Given the description of an element on the screen output the (x, y) to click on. 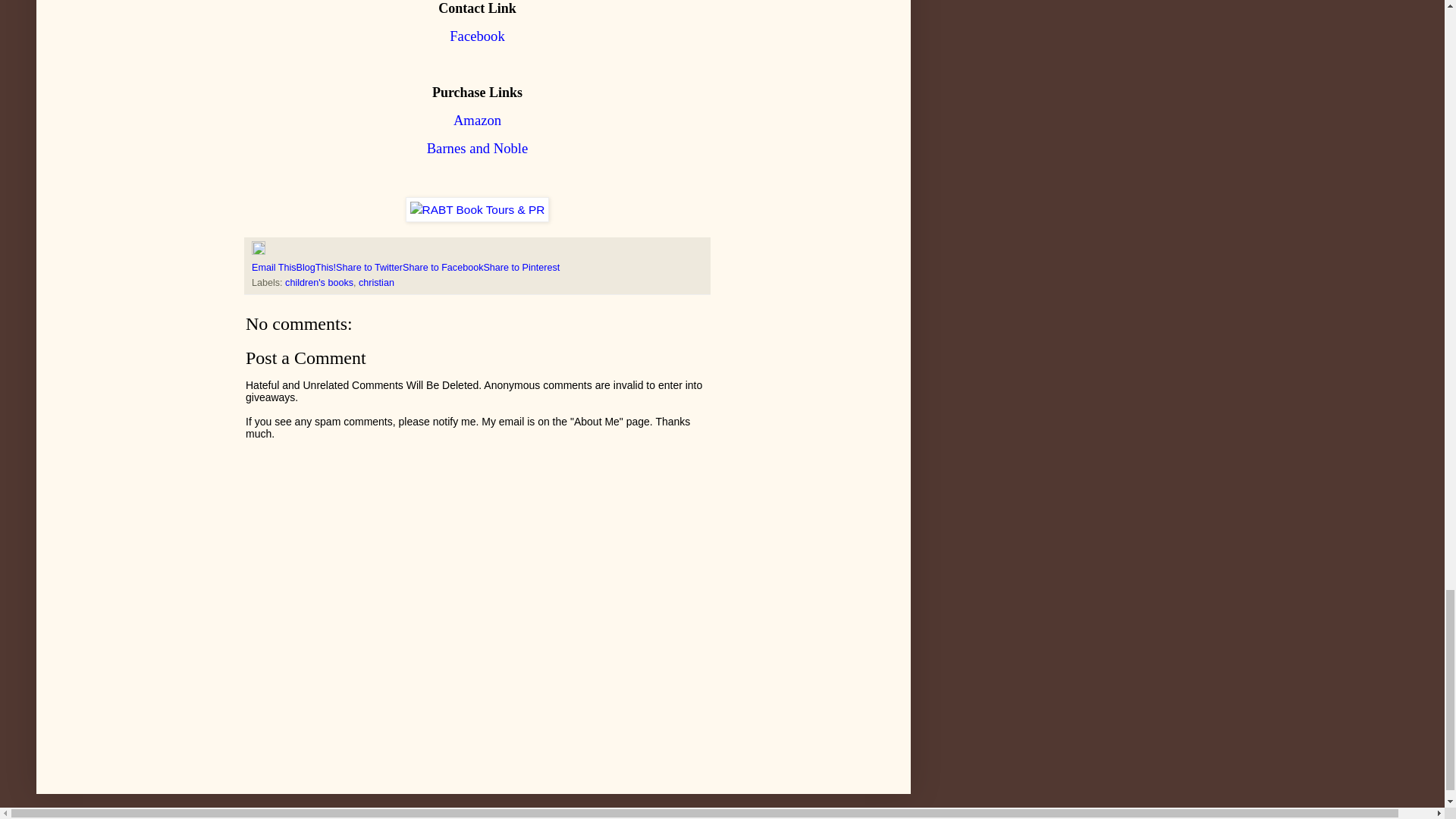
Share to Pinterest (521, 267)
Share to Twitter (369, 267)
Amazon (476, 119)
children's books (319, 282)
BlogThis! (316, 267)
Email This (274, 267)
Edit Post (257, 251)
BlogThis! (316, 267)
christian (376, 282)
Share to Facebook (443, 267)
Share to Pinterest (521, 267)
Share to Facebook (443, 267)
Facebook (477, 35)
Share to Twitter (369, 267)
Email This (274, 267)
